Given the description of an element on the screen output the (x, y) to click on. 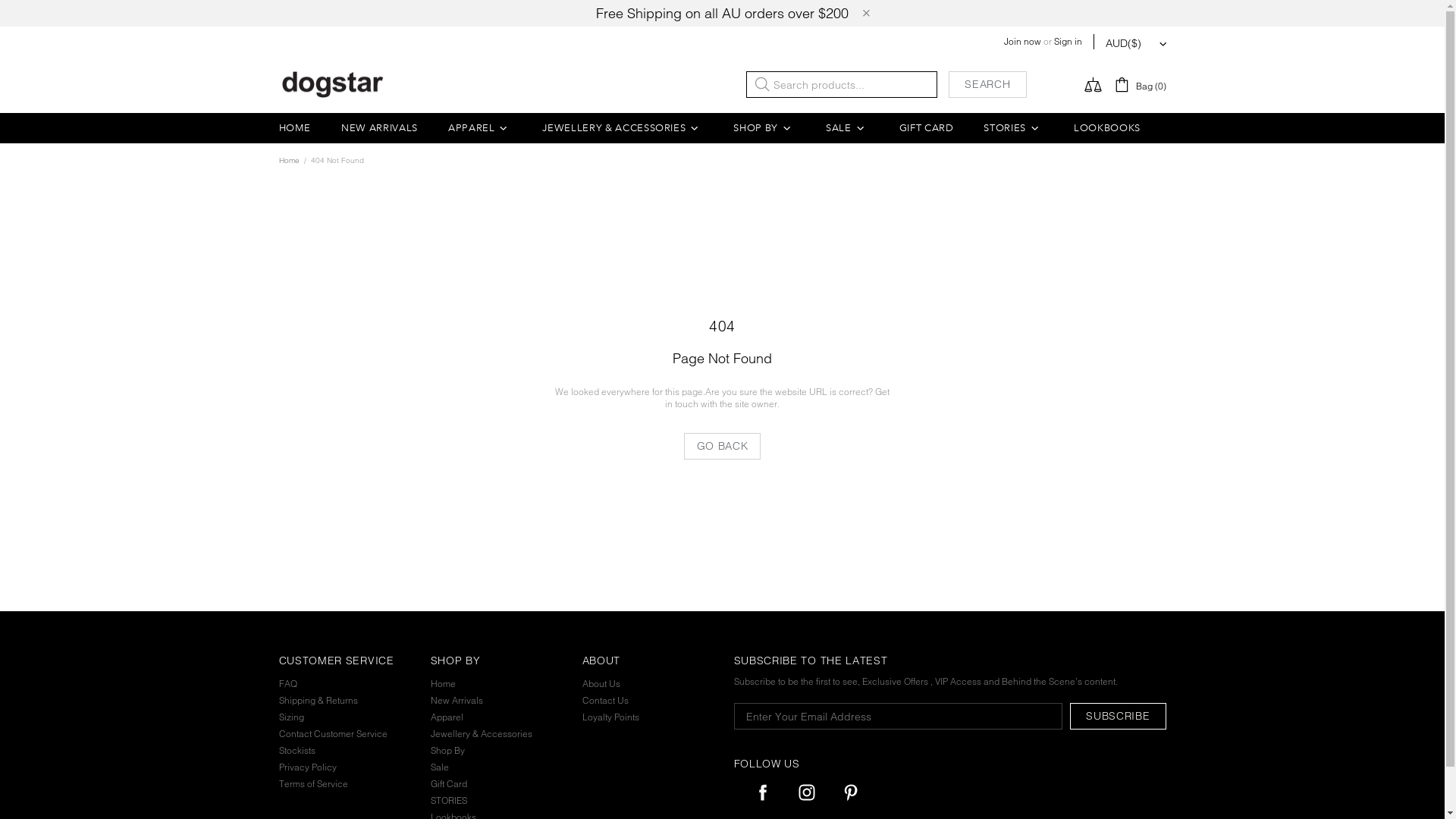
SALE Element type: text (847, 127)
APPAREL Element type: text (480, 127)
Sizing Element type: text (291, 717)
Home Element type: text (288, 160)
Sign in Element type: text (1068, 40)
NEW ARRIVALS Element type: text (379, 127)
About Us Element type: text (601, 683)
Privacy Policy Element type: text (307, 767)
Loyalty Points Element type: text (610, 717)
STORIES Element type: text (1013, 127)
Jewellery & Accessories Element type: text (481, 734)
SEARCH Element type: text (987, 84)
Bag (0) Element type: text (1139, 84)
Contact Us Element type: text (605, 700)
STORIES Element type: text (448, 800)
dogstar Element type: text (332, 84)
Home Element type: text (442, 683)
Subscribe Element type: text (1117, 715)
New Arrivals Element type: text (456, 700)
Shop By Element type: text (447, 750)
Gift Card Element type: text (448, 784)
SHOP BY Element type: text (764, 127)
JEWELLERY & ACCESSORIES Element type: text (622, 127)
Shipping & Returns Element type: text (318, 700)
Stockists Element type: text (297, 750)
Apparel Element type: text (446, 717)
GO BACK Element type: text (722, 446)
FAQ Element type: text (288, 683)
HOME Element type: text (294, 127)
Contact Customer Service Element type: text (333, 734)
GIFT CARD Element type: text (926, 127)
Join now Element type: text (1022, 40)
Terms of Service Element type: text (313, 784)
Sale Element type: text (439, 767)
LOOKBOOKS Element type: text (1106, 127)
